Given the description of an element on the screen output the (x, y) to click on. 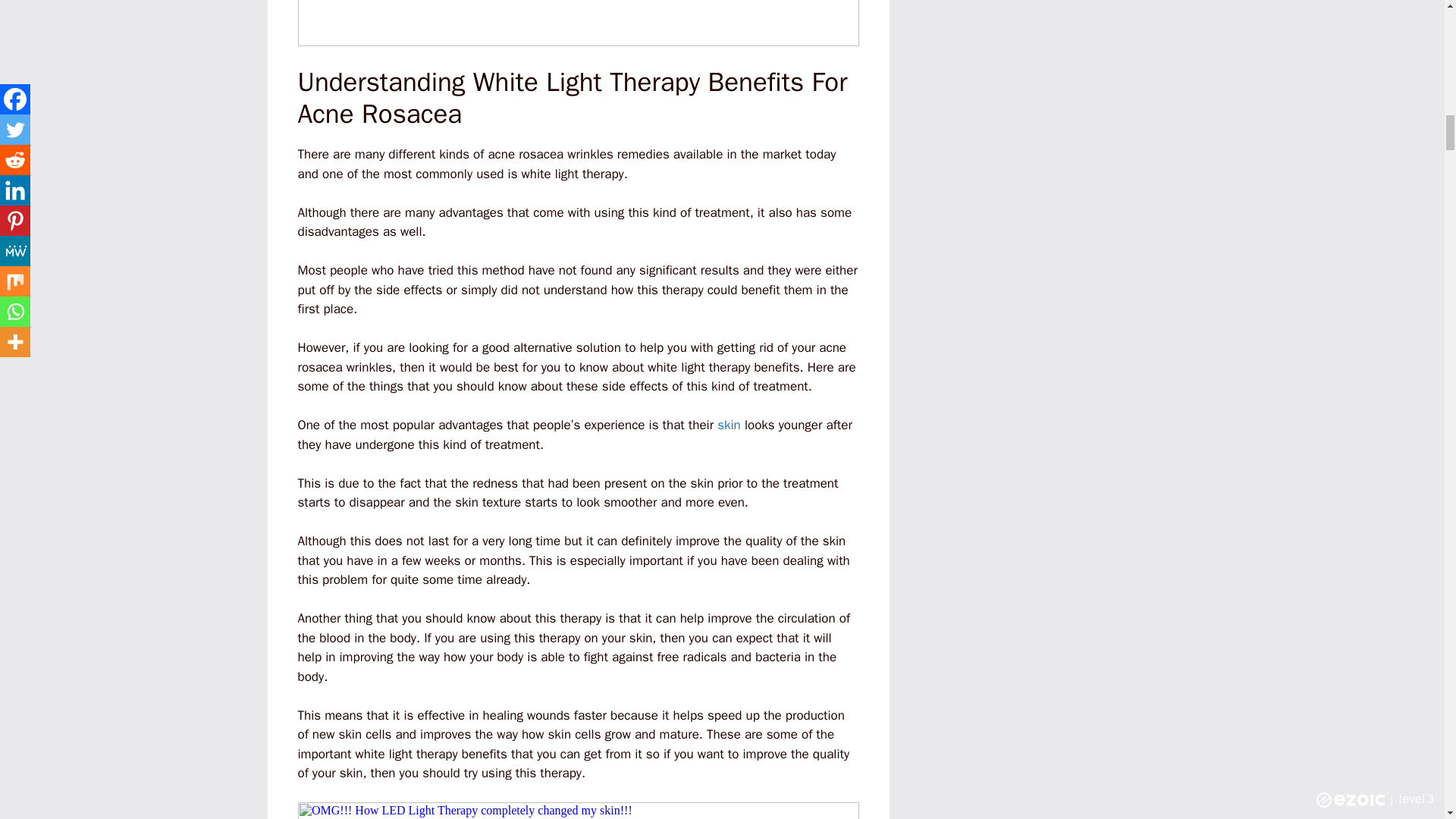
skin (729, 424)
What is Light Therapy? Does it Help? (578, 22)
OMG!!! How LED Light Therapy completely changed my skin!!! (578, 810)
